Given the description of an element on the screen output the (x, y) to click on. 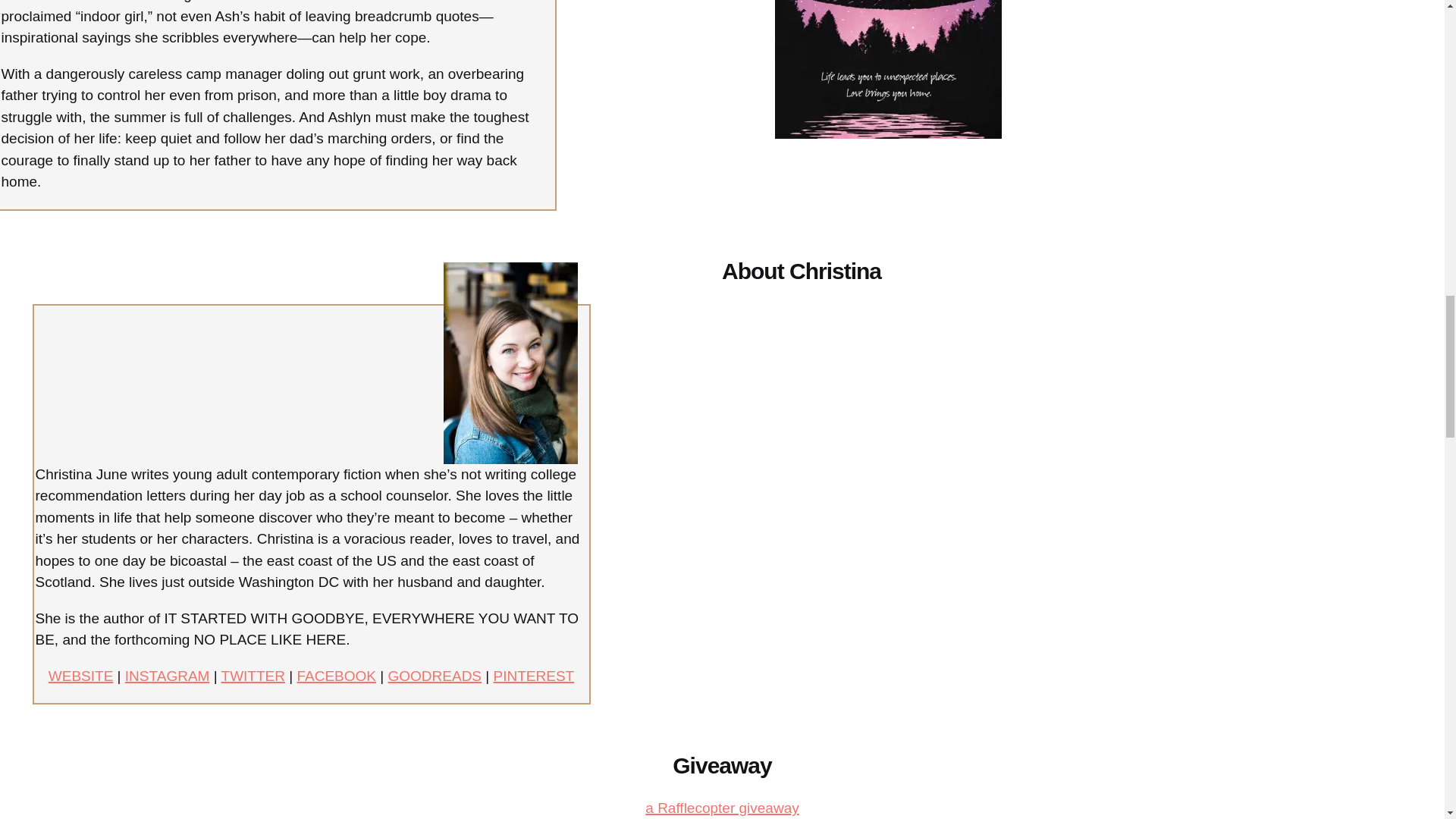
WEBSITE (80, 675)
GOODREADS (434, 675)
FACEBOOK (336, 675)
TWITTER (253, 675)
INSTAGRAM (167, 675)
PINTEREST (534, 675)
